Given the description of an element on the screen output the (x, y) to click on. 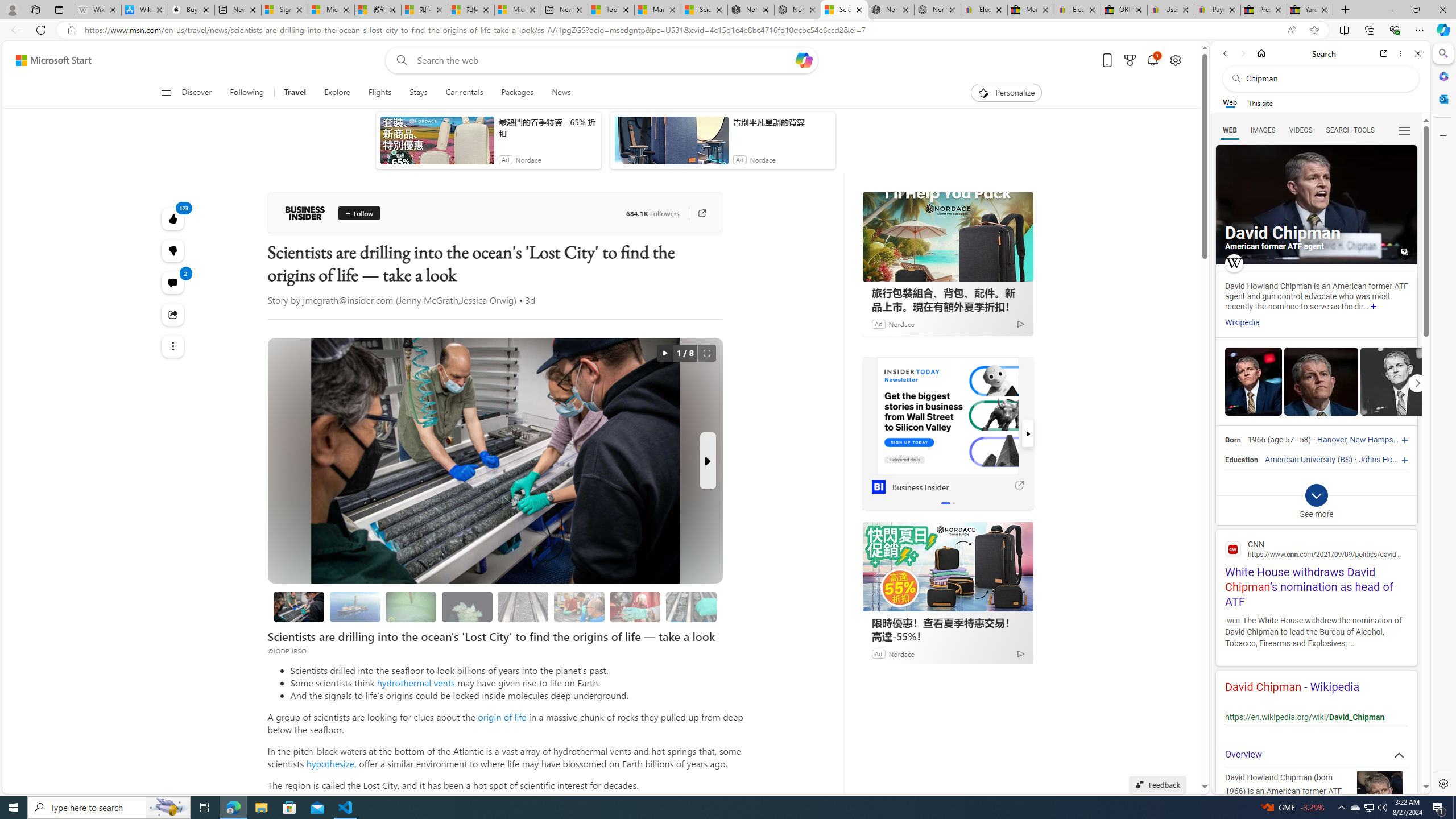
CNN (1315, 548)
Packages (517, 92)
Born (1232, 439)
American University (1300, 460)
New Hampshire (1377, 439)
Next Slide (707, 460)
